Given the description of an element on the screen output the (x, y) to click on. 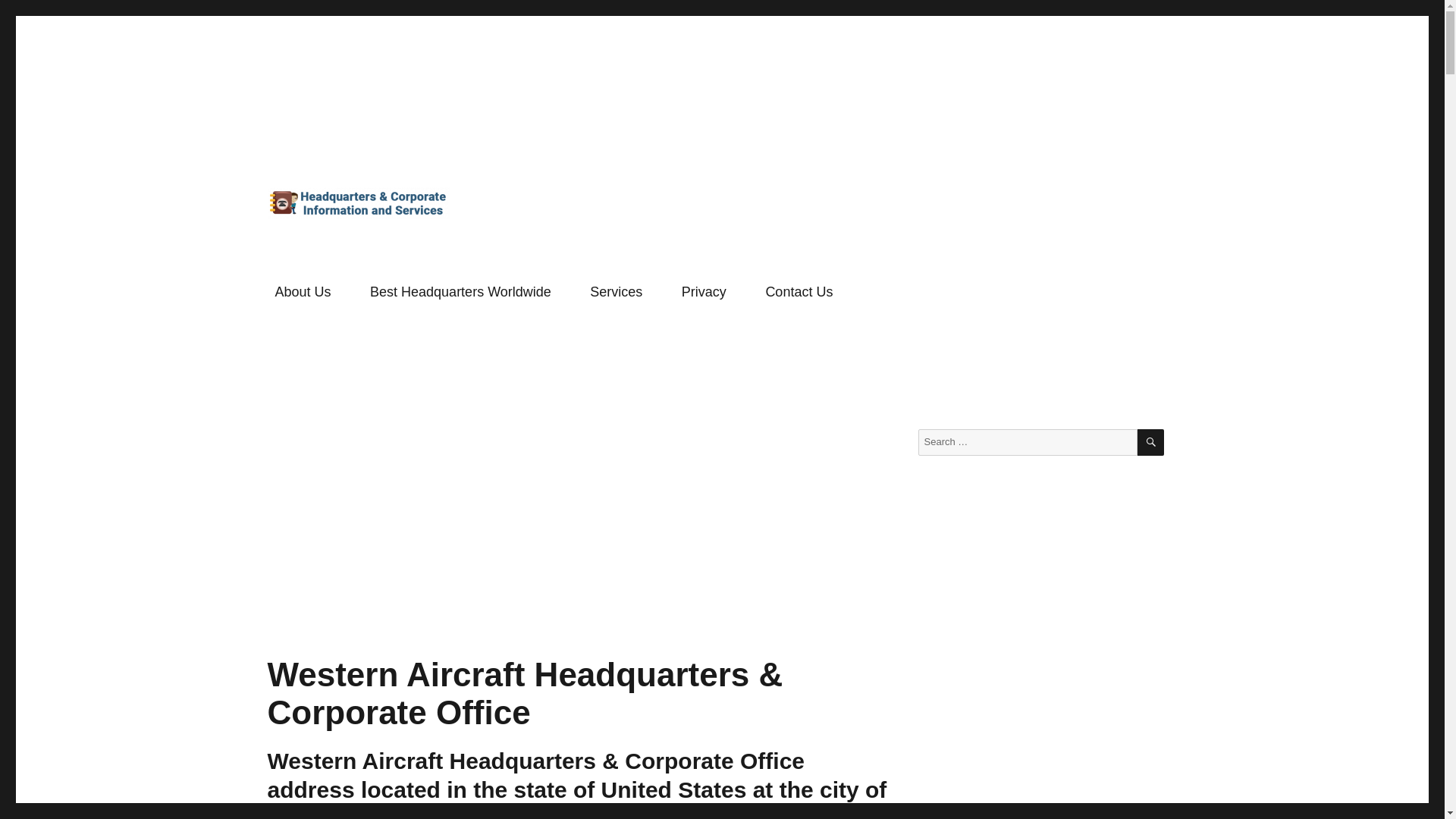
Best Headquarters Worldwide (460, 292)
Contact Us (799, 292)
Services (616, 292)
About Us (303, 292)
Privacy (703, 292)
SEARCH (1150, 442)
